Given the description of an element on the screen output the (x, y) to click on. 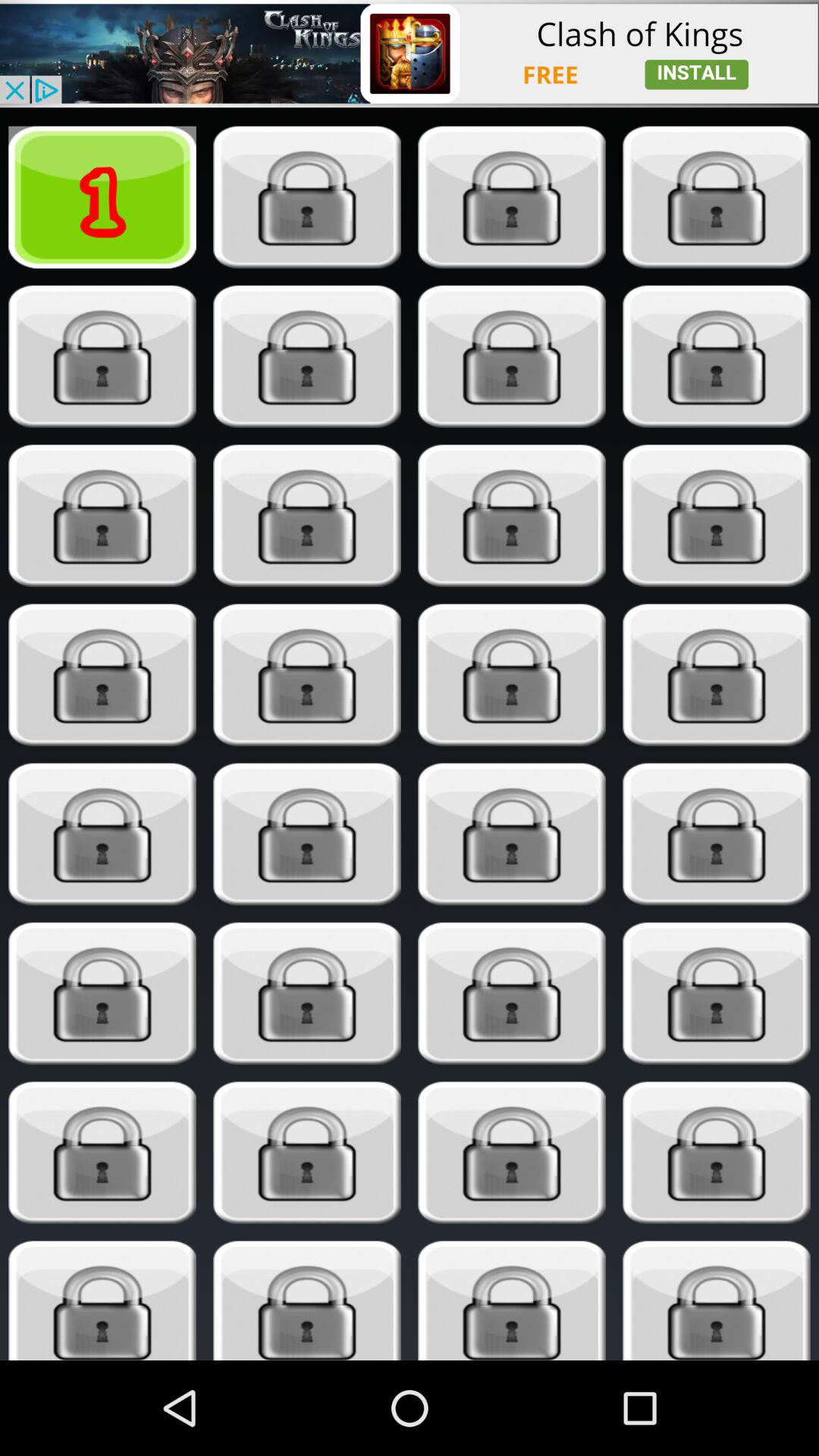
stage 5 (102, 356)
